Given the description of an element on the screen output the (x, y) to click on. 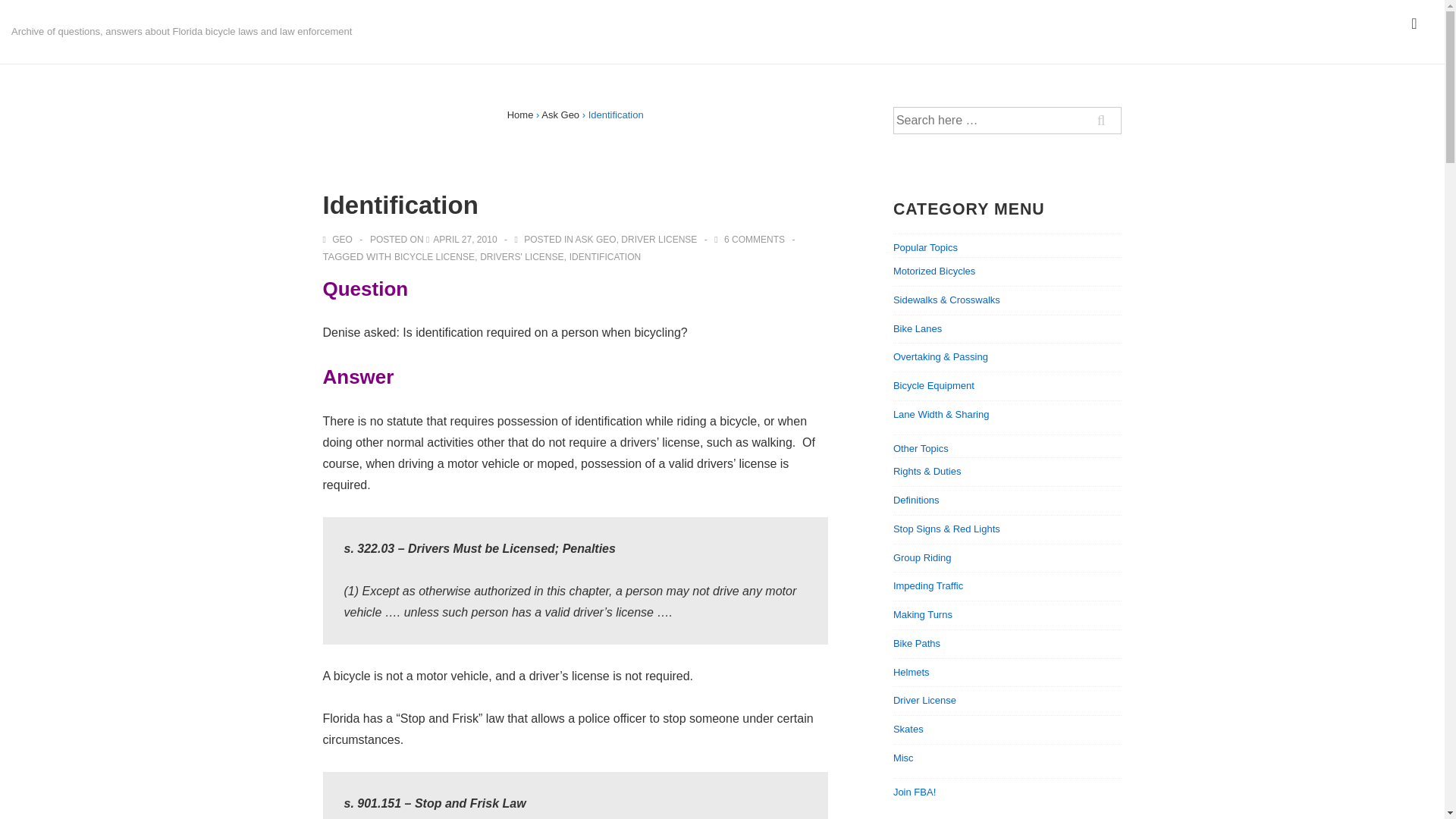
BICYCLE LICENSE (434, 256)
GEO (339, 239)
View all posts by Geo (339, 239)
Home (520, 114)
Ask Geo (560, 114)
APRIL 27, 2010 (464, 239)
6 COMMENTS (753, 239)
DRIVER LICENSE (659, 239)
Identification (464, 239)
MENU (1414, 23)
